Given the description of an element on the screen output the (x, y) to click on. 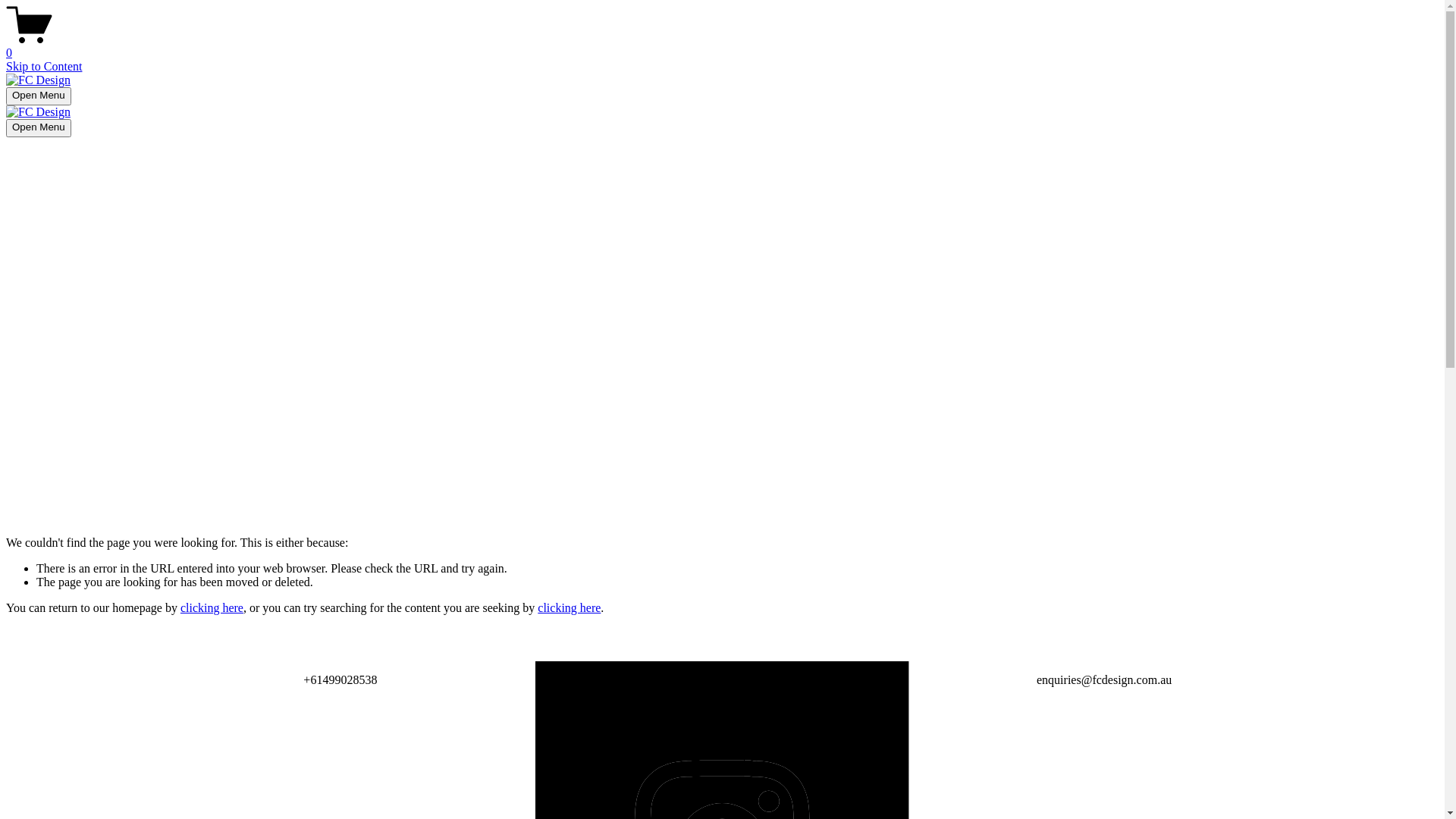
Open Menu Element type: text (38, 128)
Skip to Content Element type: text (43, 65)
clicking here Element type: text (211, 607)
clicking here Element type: text (568, 607)
Open Menu Element type: text (38, 96)
0 Element type: text (722, 45)
